Given the description of an element on the screen output the (x, y) to click on. 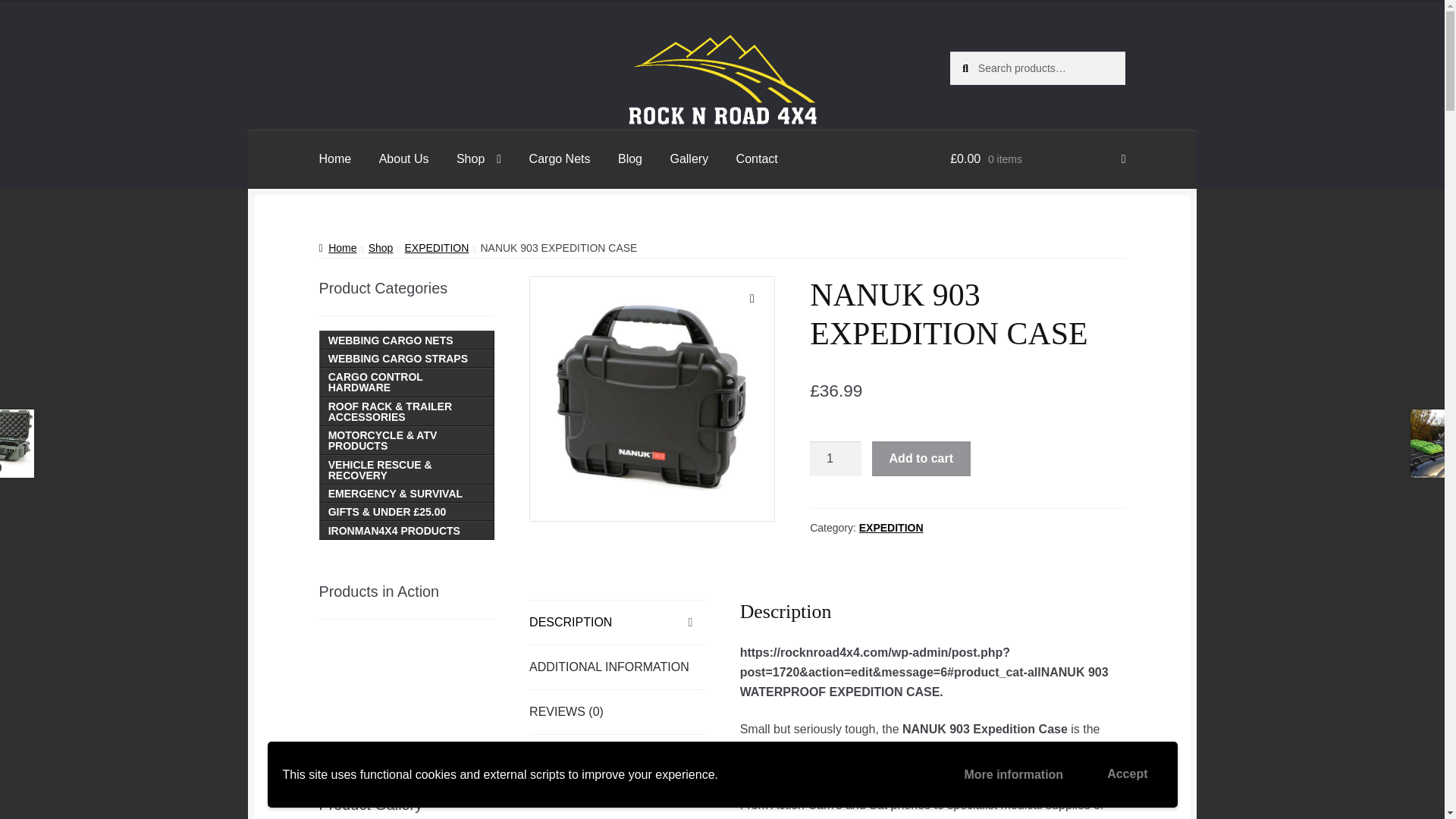
Gallery (689, 159)
Home (335, 159)
EXPEDITION (436, 247)
View your shopping cart (1037, 159)
About Us (403, 159)
Accept (1127, 774)
Qty (835, 458)
More information (1013, 774)
Contact (756, 159)
Cargo Nets (559, 159)
NANUK 903 CLOSED GREY (651, 398)
Shop (380, 247)
1 (835, 458)
